Given the description of an element on the screen output the (x, y) to click on. 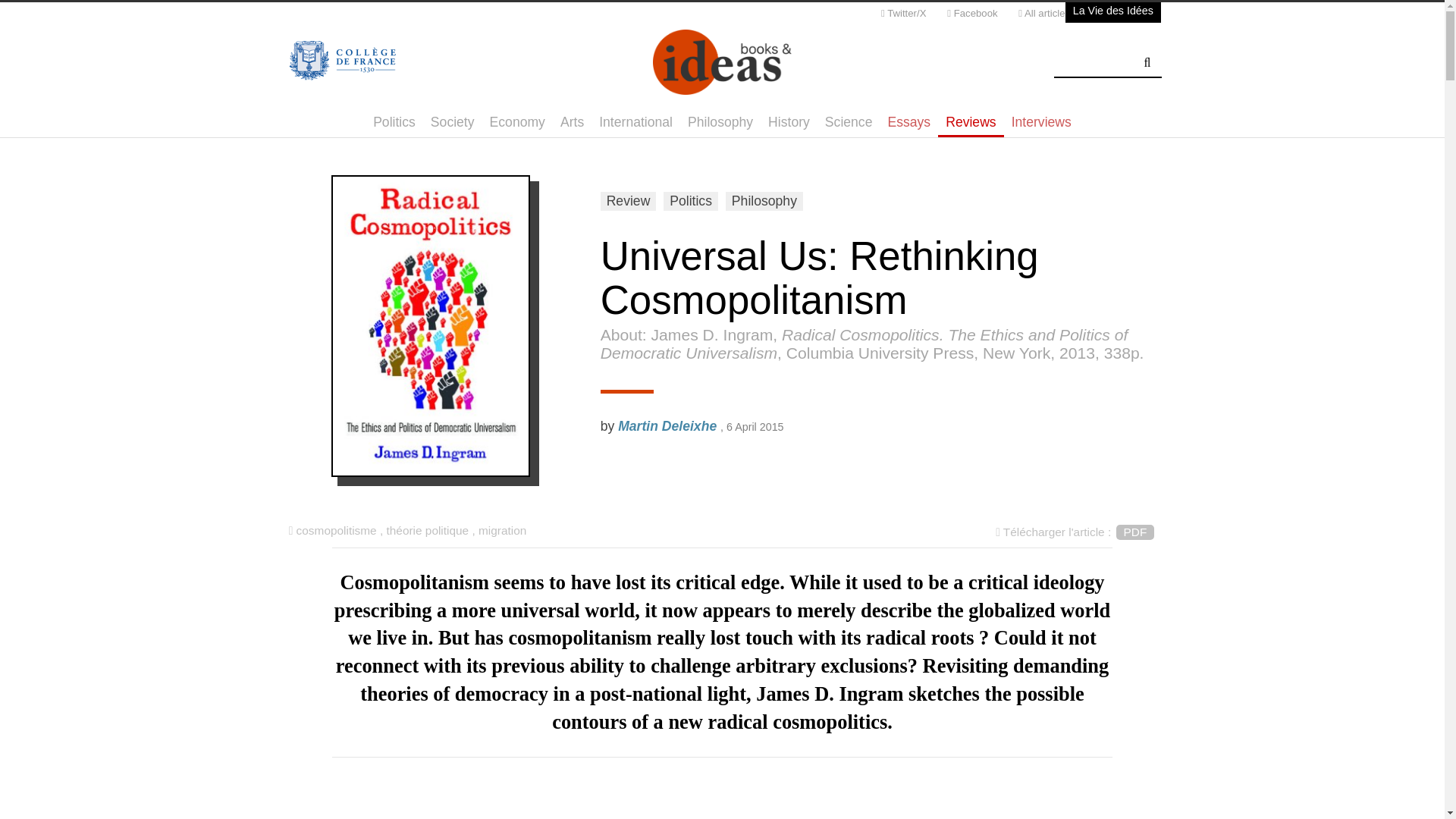
cosmopolitisme (337, 530)
Review (627, 200)
Society (452, 122)
PDF (1135, 531)
Politics (394, 122)
migration (502, 530)
Essays (908, 122)
International (635, 122)
Arts (572, 122)
Economy (517, 122)
Facebook (972, 16)
Philosophy (719, 122)
Politics (690, 200)
All articles (1043, 16)
Philosophy (764, 200)
